Given the description of an element on the screen output the (x, y) to click on. 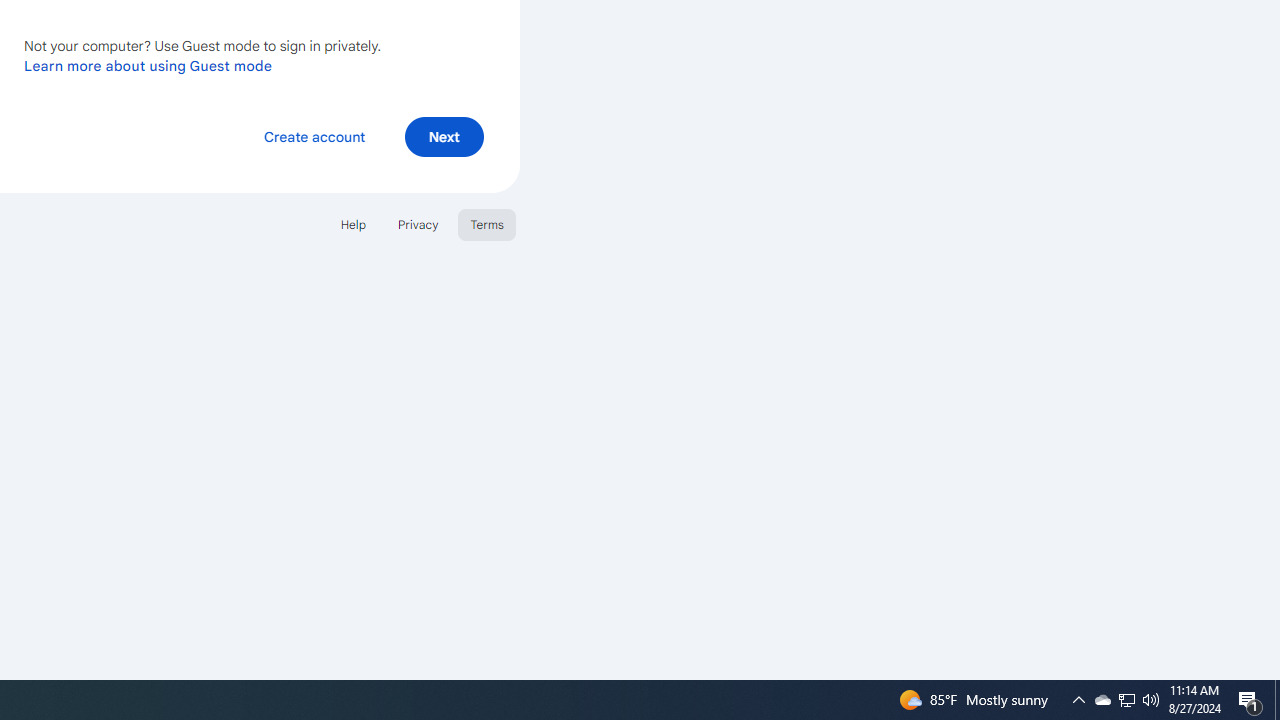
Create account (314, 135)
Learn more about using Guest mode (148, 65)
